Given the description of an element on the screen output the (x, y) to click on. 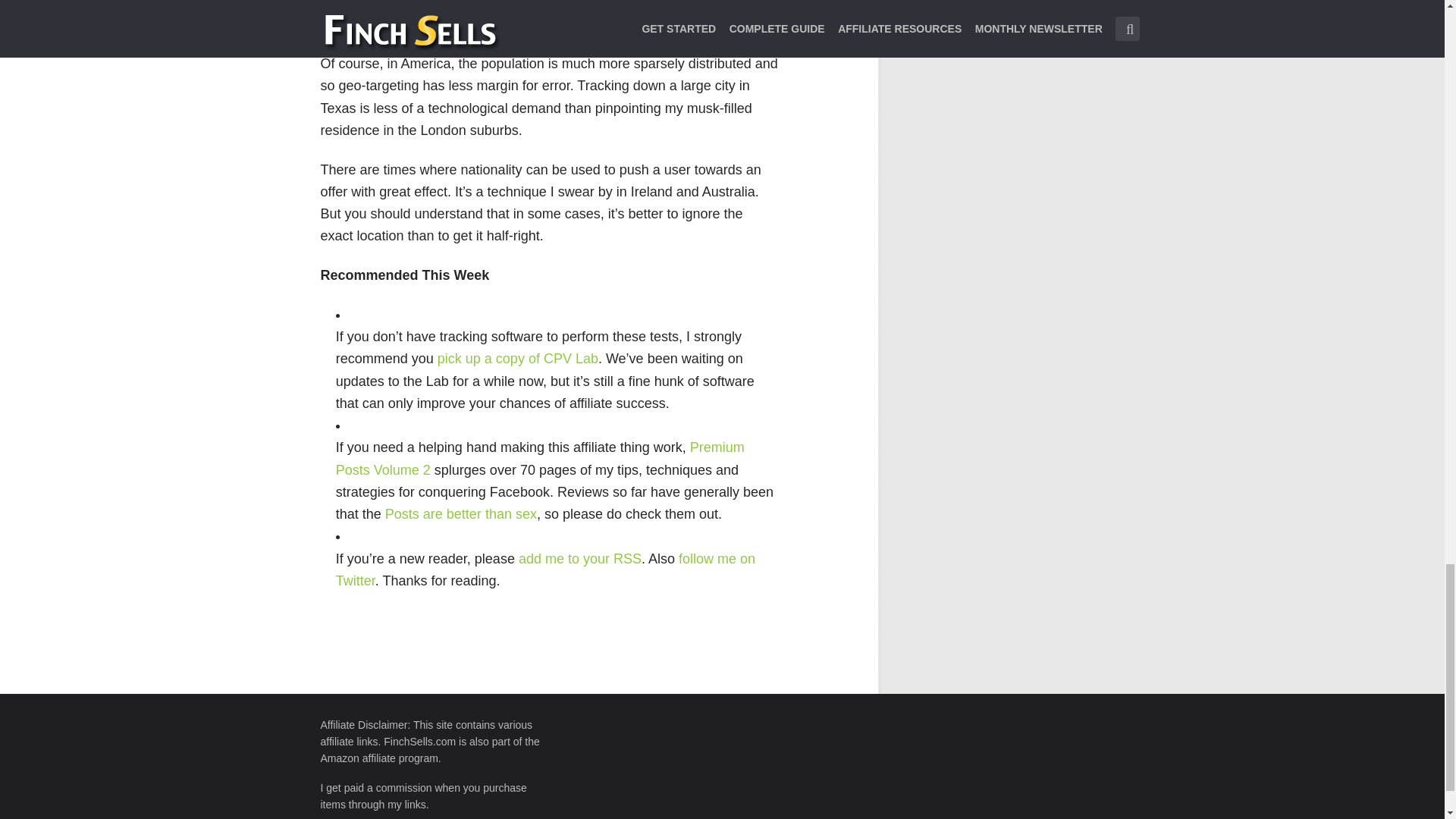
pick up a copy of CPV Lab (518, 358)
add me to your RSS (580, 558)
follow me on Twitter (545, 569)
Posts are better than sex (461, 513)
Premium Posts Volume 2 (540, 457)
